Given the description of an element on the screen output the (x, y) to click on. 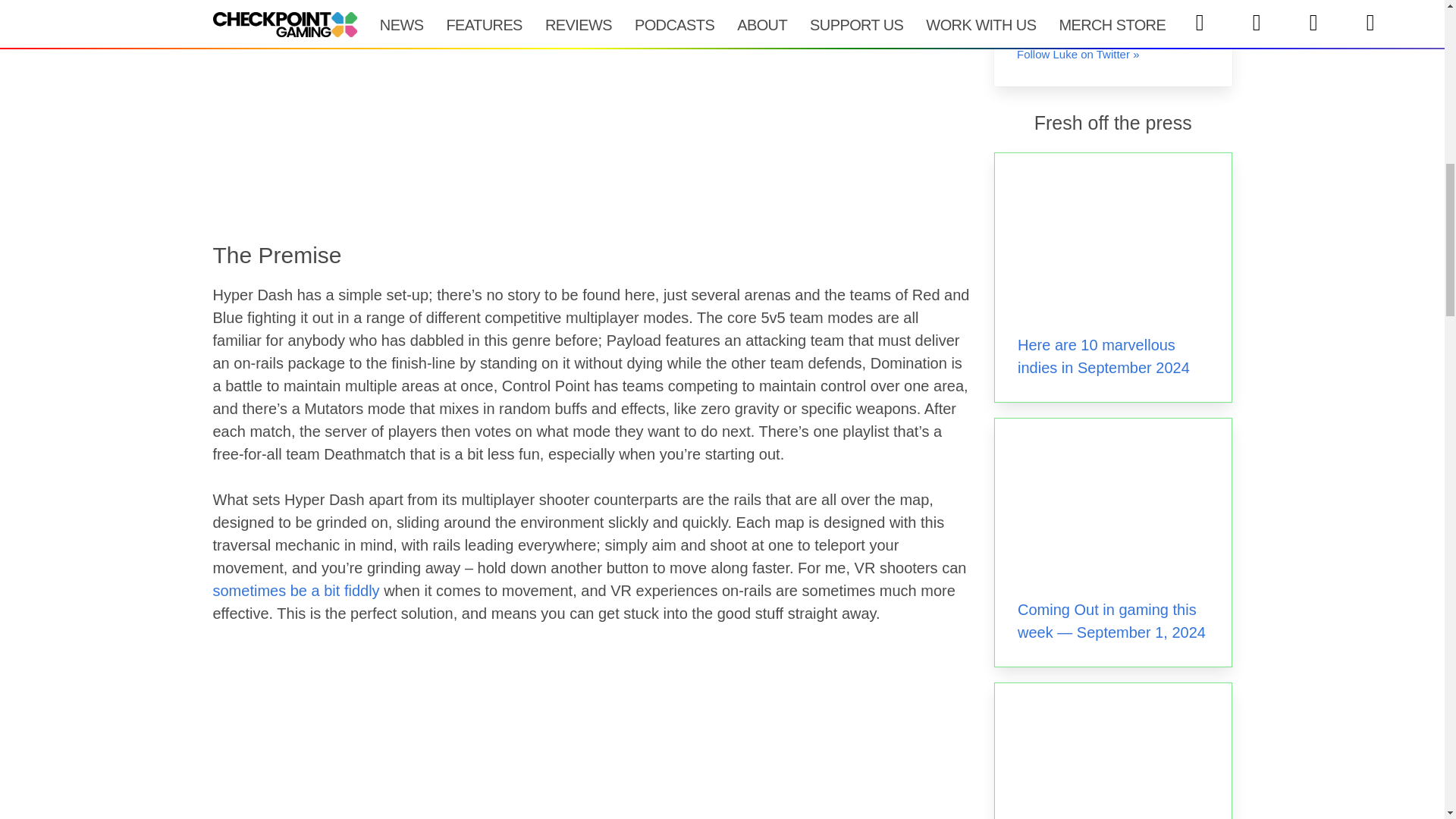
sometimes be a bit fiddly (295, 590)
Here are 10 marvellous indies in September 2024 (1103, 355)
